Given the description of an element on the screen output the (x, y) to click on. 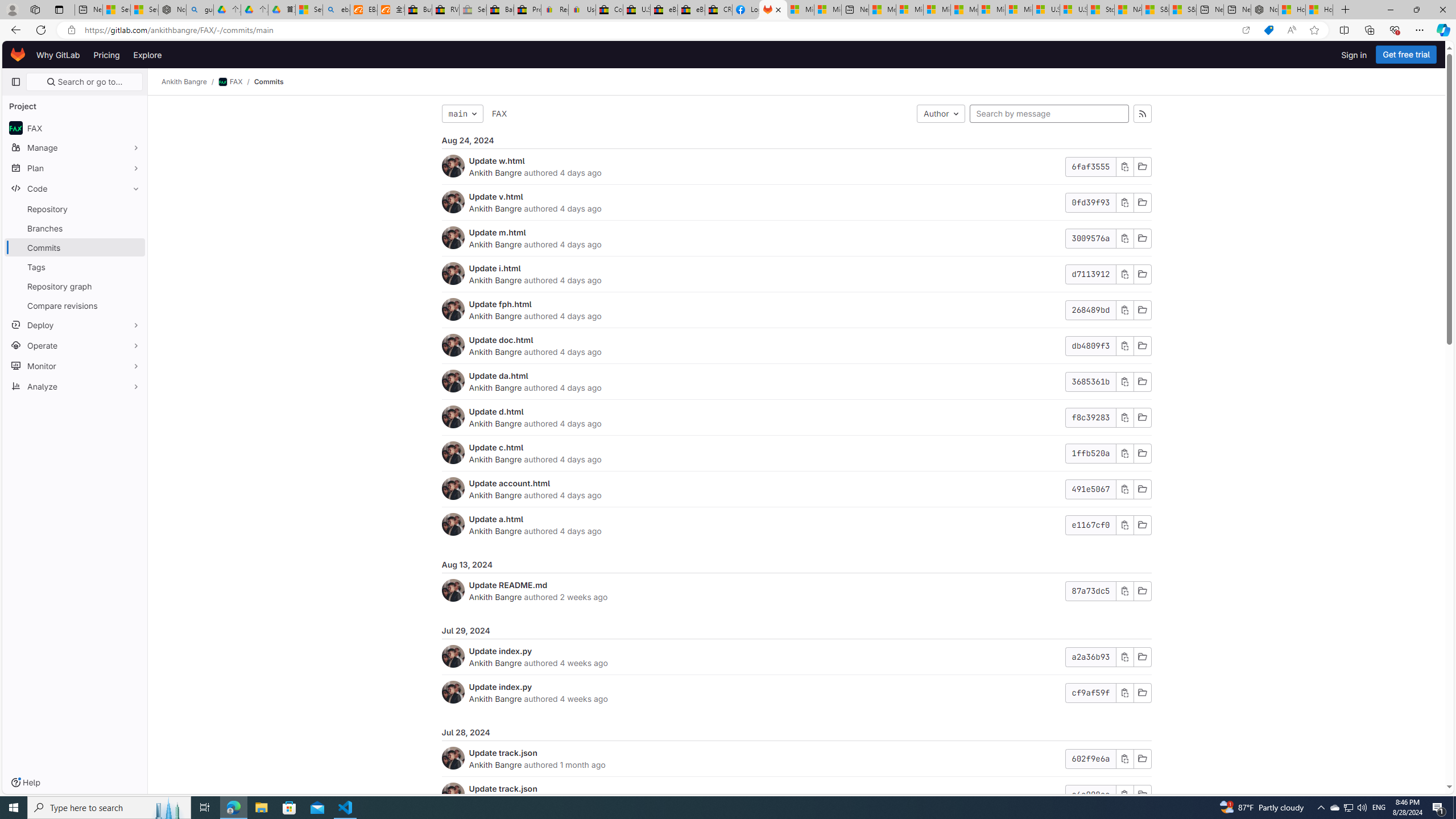
Update track.jsonAnkith Bangre authored 1 month ago602f9e6a (796, 759)
Class: s16 (1142, 794)
Jul 28, 2024 (796, 732)
Analyze (74, 385)
Sign in (1353, 54)
Tags (74, 266)
Branches (74, 227)
Operate (74, 344)
Homepage (17, 54)
FAX/ (236, 81)
